Given the description of an element on the screen output the (x, y) to click on. 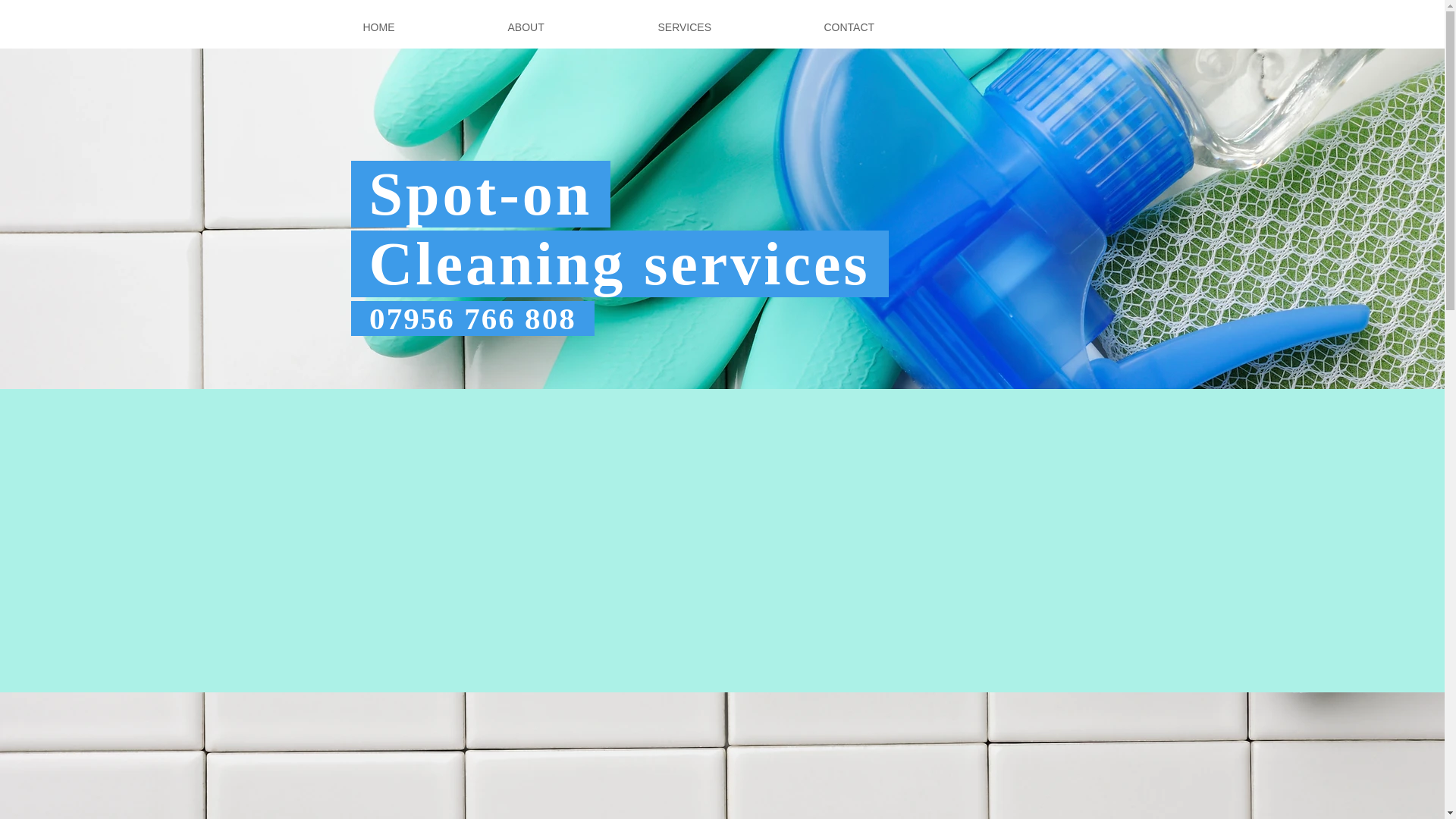
SERVICES (729, 26)
ABOUT (571, 26)
  07956 766 808   (472, 318)
 Cleaning services  (619, 263)
HOME (424, 26)
CONTACT (894, 26)
 Spot-on  (480, 193)
